Given the description of an element on the screen output the (x, y) to click on. 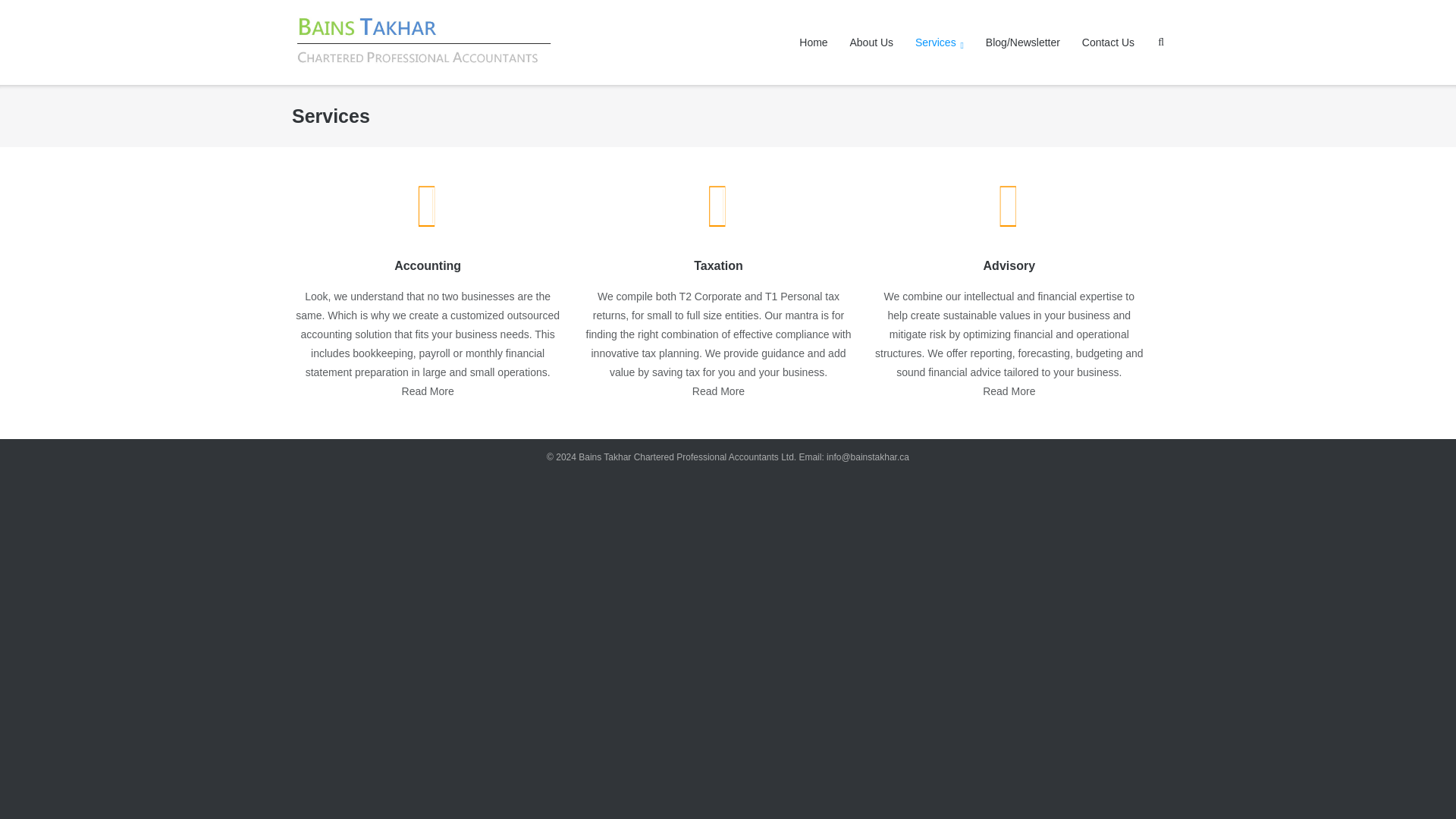
Accounting (427, 265)
Read More (1008, 390)
Advisory (1009, 265)
Read More (718, 390)
Read More (427, 390)
Taxation (718, 265)
